Given the description of an element on the screen output the (x, y) to click on. 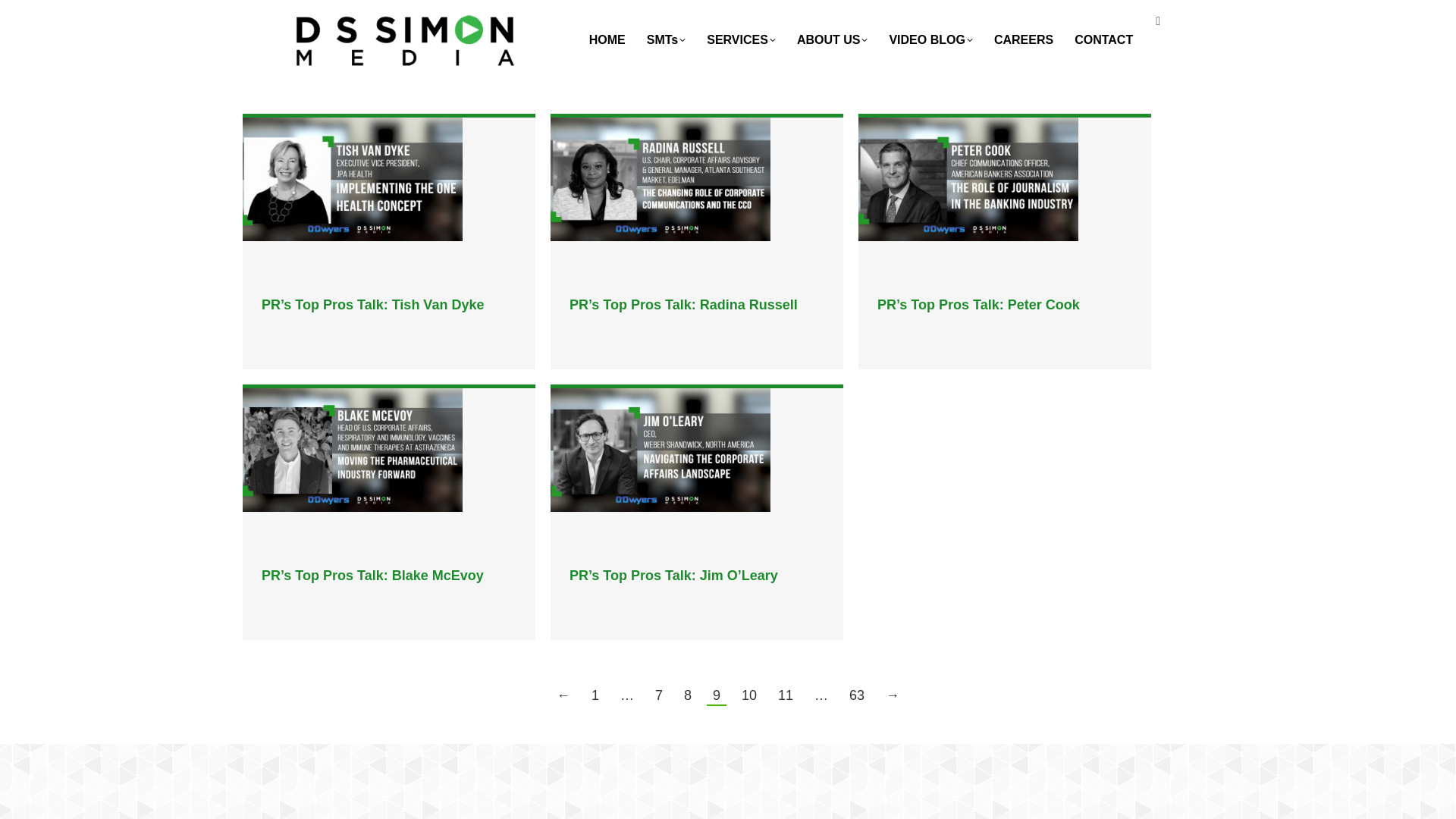
ABOUT US (831, 39)
Go! (75, 14)
VIDEO BLOG (930, 39)
CAREERS (1023, 39)
SERVICES (741, 39)
CONTACT (1103, 39)
